Given the description of an element on the screen output the (x, y) to click on. 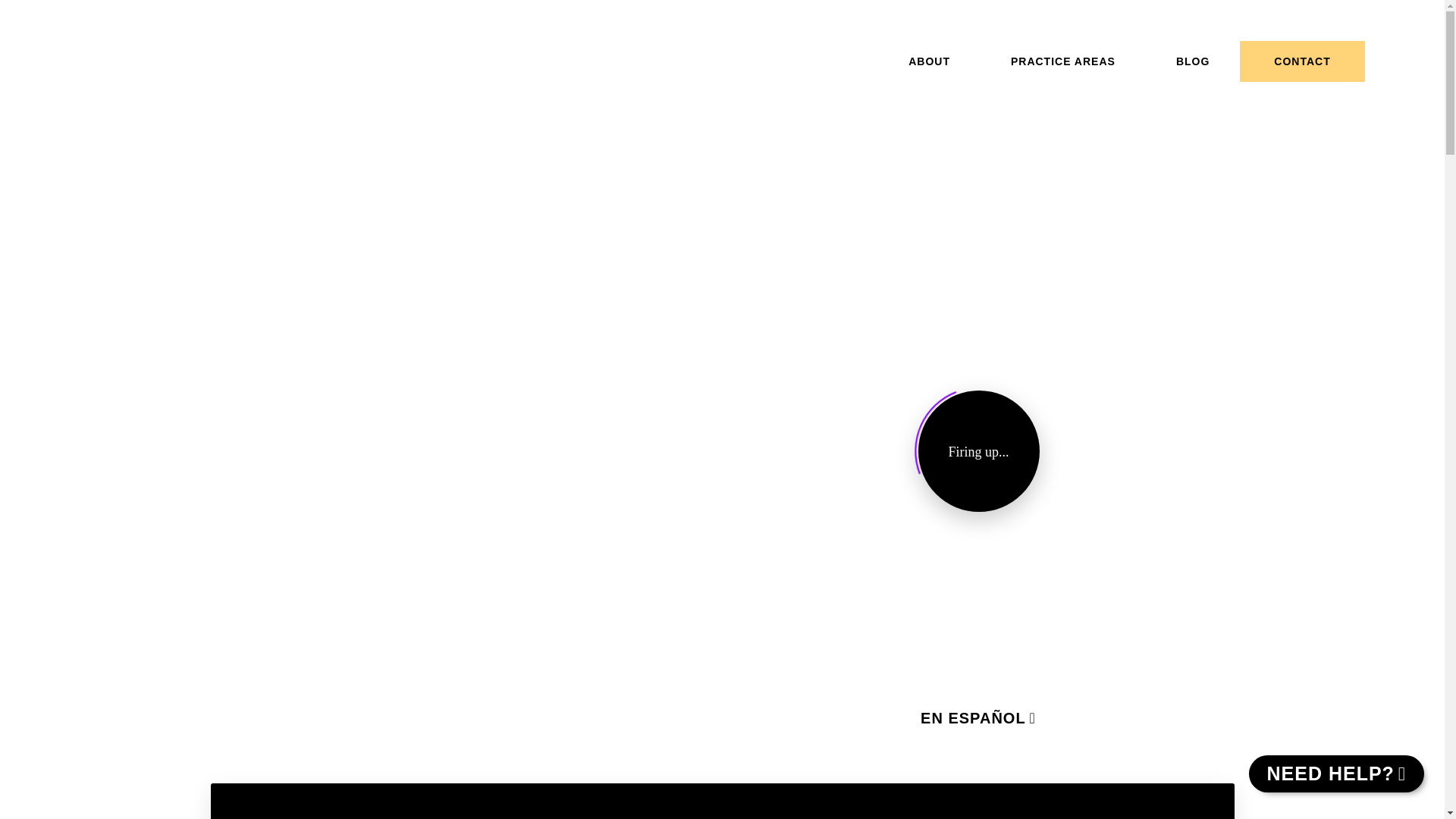
BLOG (1192, 61)
ABOUT (928, 61)
CONTACT (1302, 60)
PRACTICE AREAS (1062, 61)
